Given the description of an element on the screen output the (x, y) to click on. 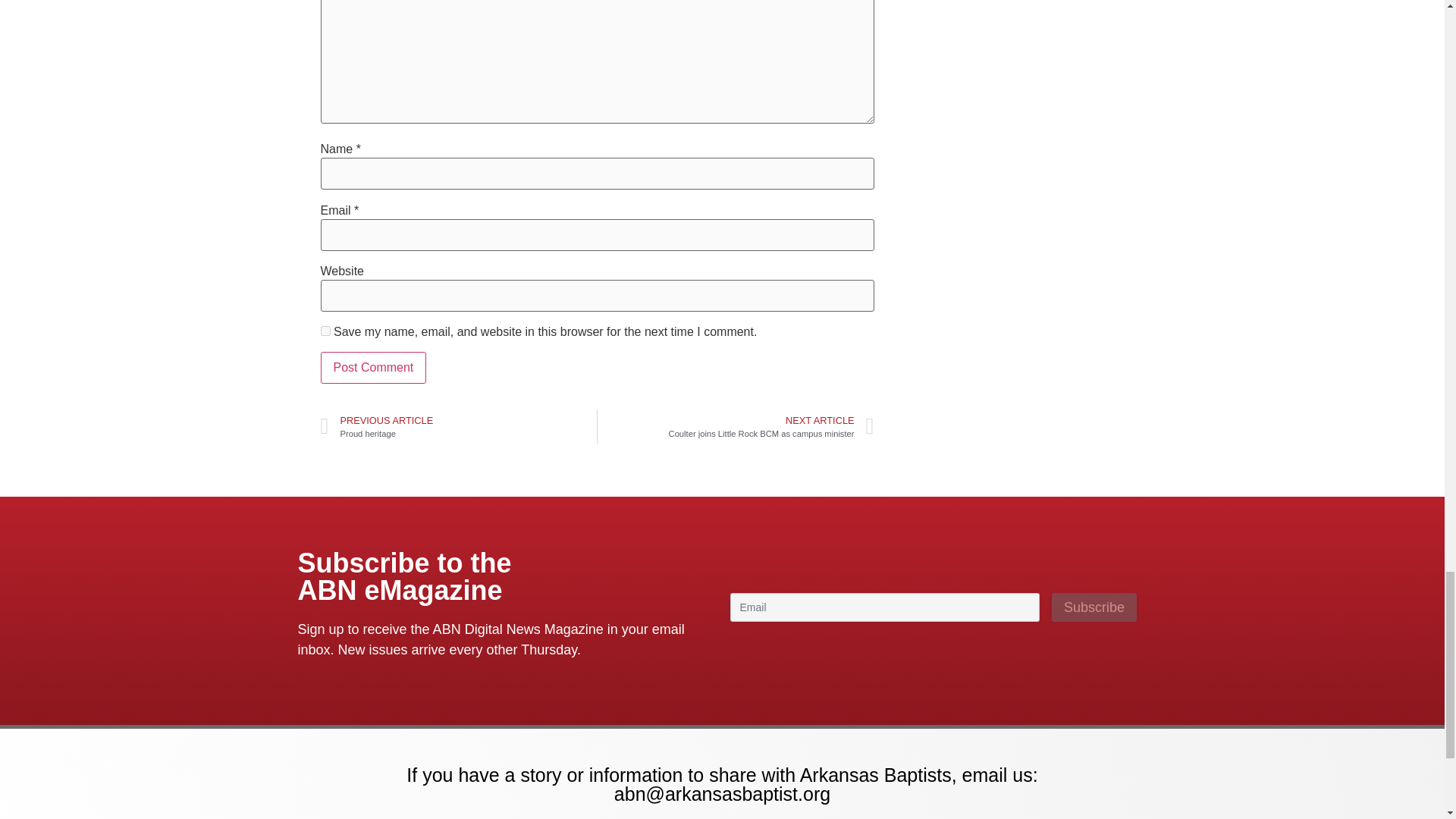
Subscribe (1094, 606)
Post Comment (373, 368)
yes (325, 330)
